Given the description of an element on the screen output the (x, y) to click on. 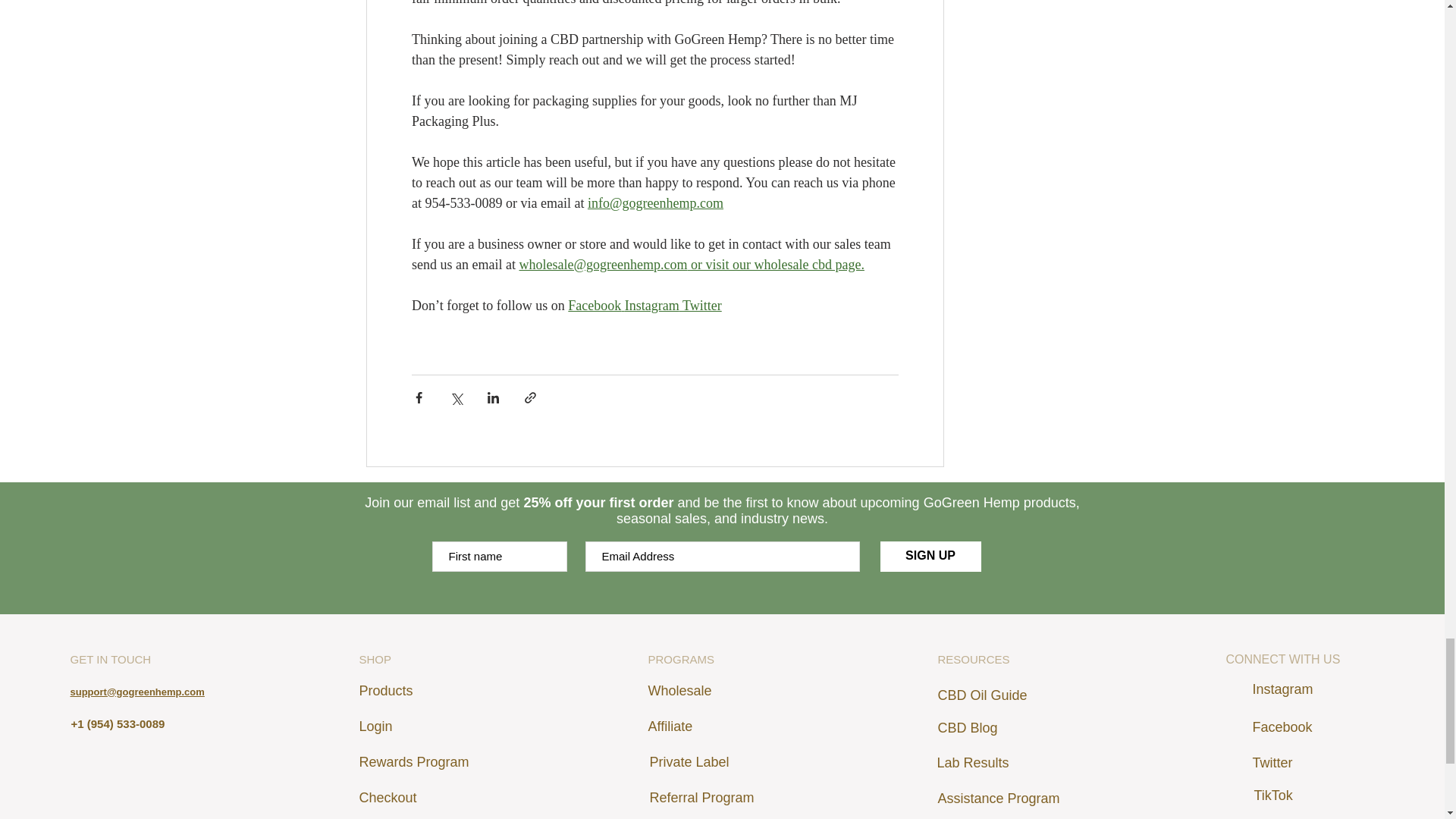
Instagram (651, 304)
or visit our wholesale cbd page. (776, 263)
Facebook (594, 304)
